Given the description of an element on the screen output the (x, y) to click on. 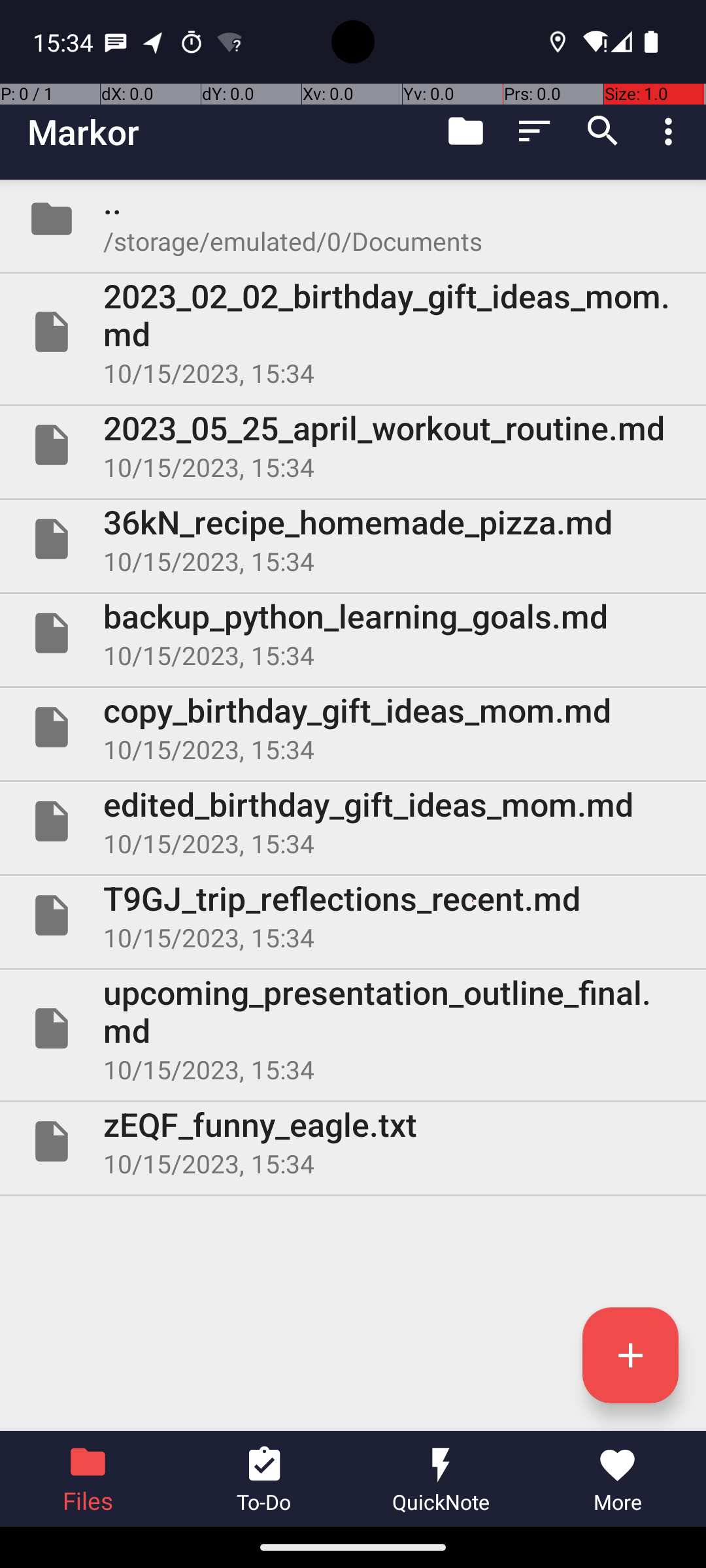
File 2023_02_02_birthday_gift_ideas_mom.md  Element type: android.widget.LinearLayout (353, 331)
File 2023_05_25_april_workout_routine.md  Element type: android.widget.LinearLayout (353, 444)
File 36kN_recipe_homemade_pizza.md  Element type: android.widget.LinearLayout (353, 538)
File backup_python_learning_goals.md  Element type: android.widget.LinearLayout (353, 632)
File copy_birthday_gift_ideas_mom.md  Element type: android.widget.LinearLayout (353, 726)
File edited_birthday_gift_ideas_mom.md  Element type: android.widget.LinearLayout (353, 821)
File T9GJ_trip_reflections_recent.md  Element type: android.widget.LinearLayout (353, 915)
File upcoming_presentation_outline_final.md  Element type: android.widget.LinearLayout (353, 1028)
File zEQF_funny_eagle.txt  Element type: android.widget.LinearLayout (353, 1141)
